Given the description of an element on the screen output the (x, y) to click on. 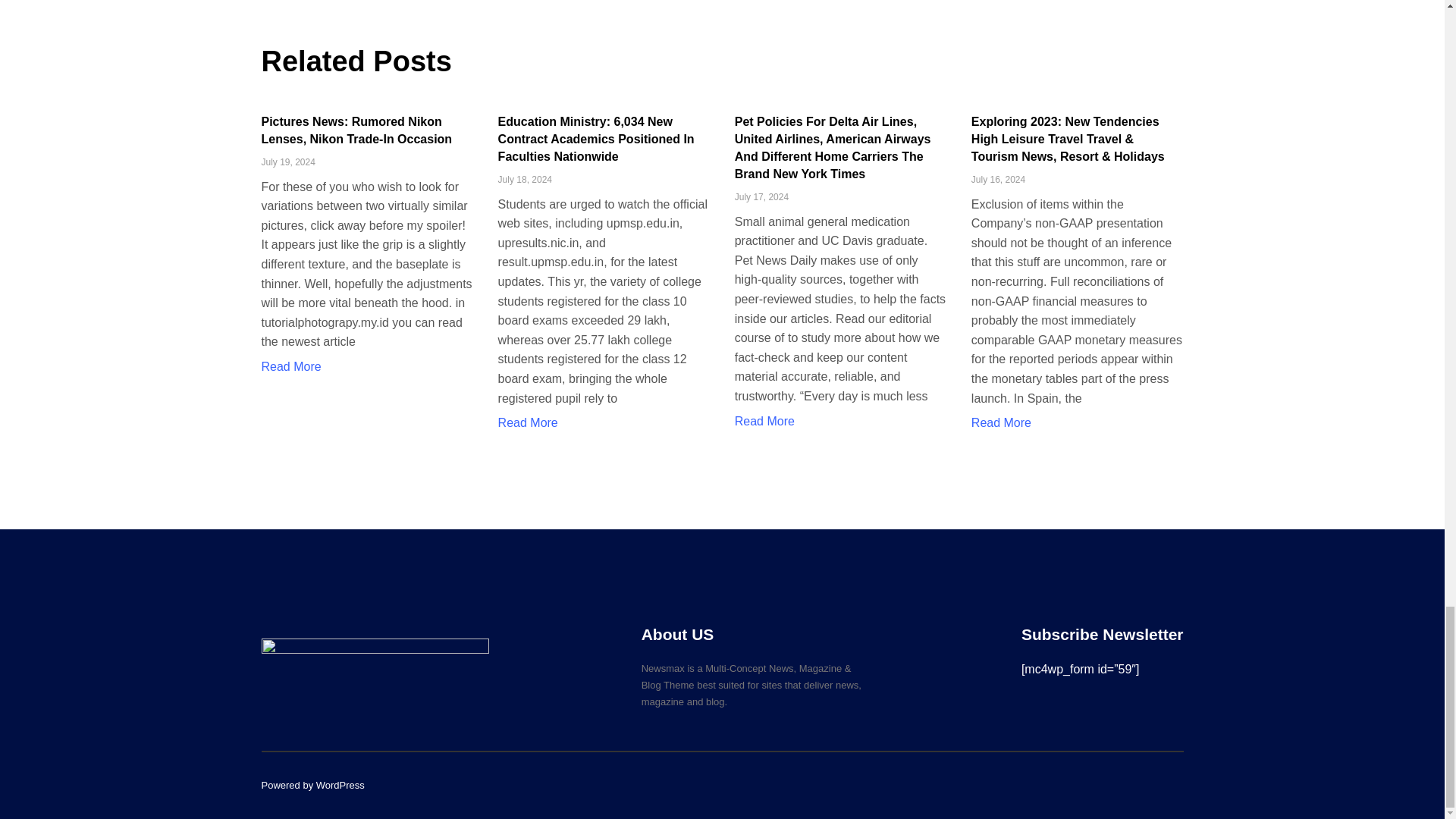
Read More (527, 422)
Pictures News: Rumored Nikon Lenses, Nikon Trade-In Occasion (355, 130)
Read More (290, 366)
Read More (764, 420)
Read More (1000, 422)
